Given the description of an element on the screen output the (x, y) to click on. 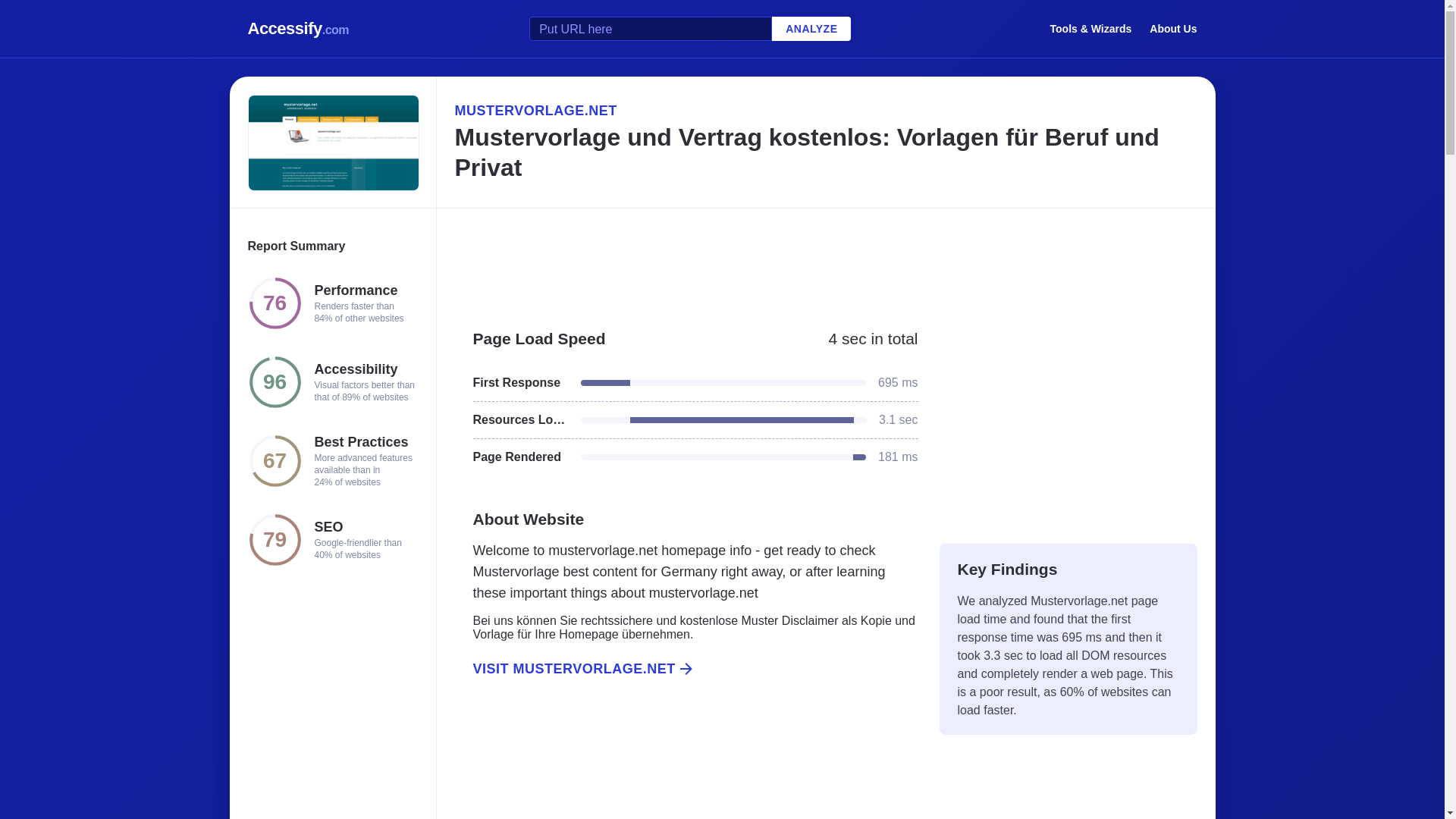
MUSTERVORLAGE.NET (825, 110)
Accessify.com (298, 28)
About Us (1173, 28)
Advertisement (1067, 418)
Advertisement (825, 260)
VISIT MUSTERVORLAGE.NET (686, 669)
ANALYZE (810, 28)
Advertisement (686, 765)
